Given the description of an element on the screen output the (x, y) to click on. 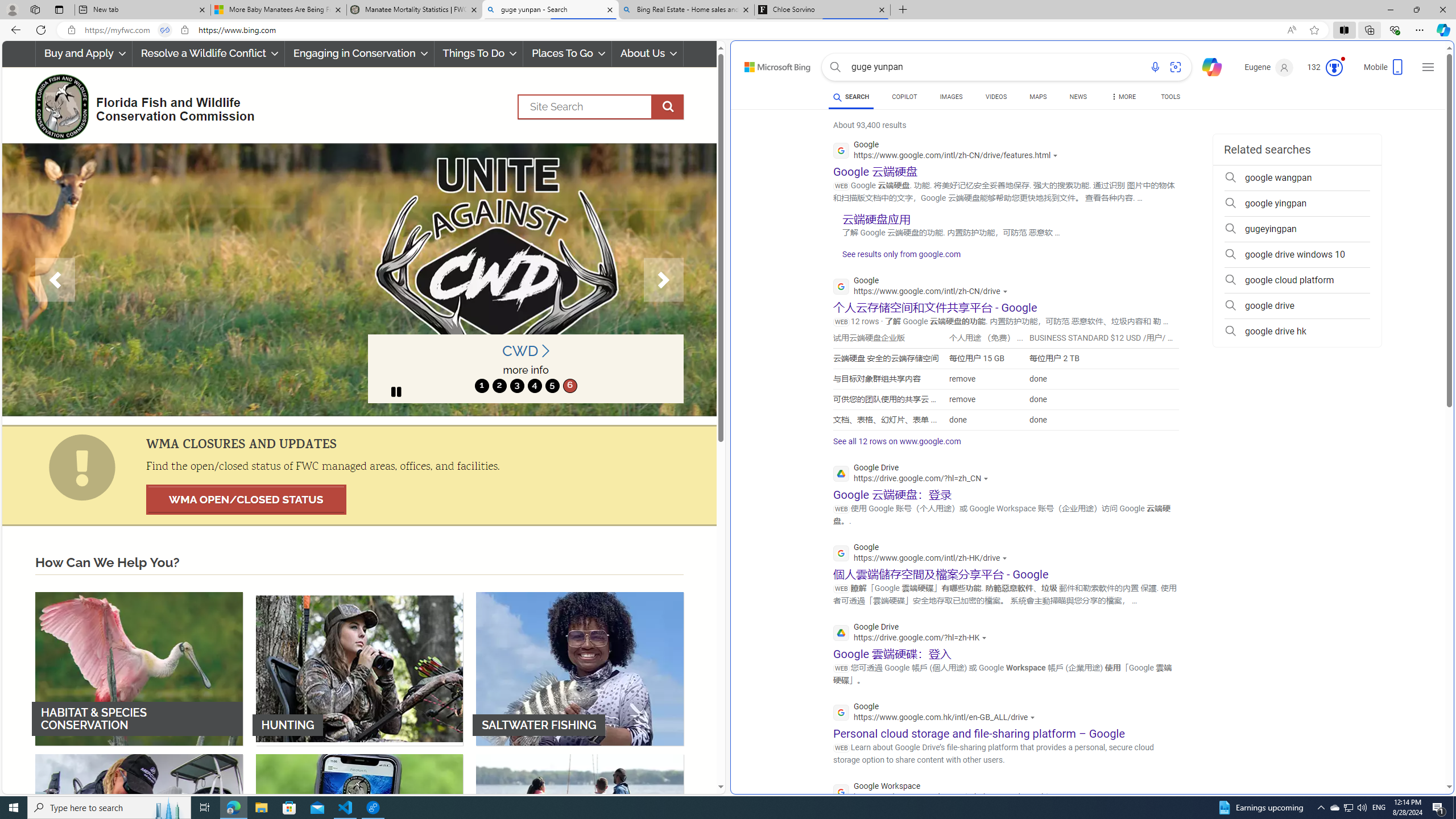
About Us (647, 53)
move to slide 1 (481, 385)
carousel image link (359, 279)
execute site search (667, 106)
VIDEOS (995, 96)
Personal Profile (12, 9)
Next (663, 279)
Refresh (40, 29)
NEWS (1078, 96)
Tabs in split screen (164, 29)
Chloe Sorvino (822, 9)
gugeyingpan (1297, 229)
Mobile (1384, 70)
